Given the description of an element on the screen output the (x, y) to click on. 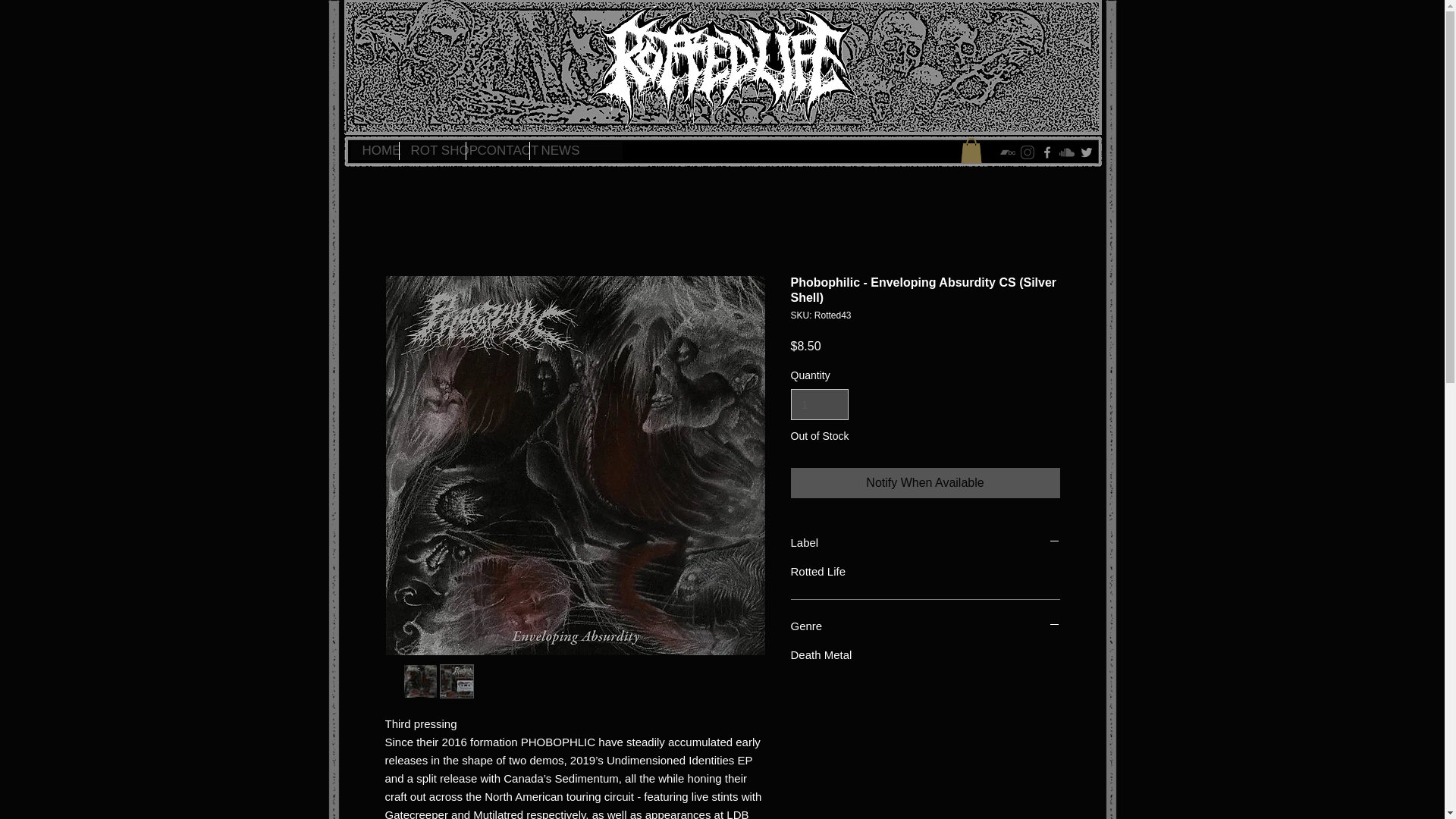
1 (818, 404)
HOME (373, 150)
NEWS (552, 150)
Label (924, 542)
ROT SHOP (431, 150)
CONTACT (497, 150)
Genre (924, 625)
Notify When Available (924, 482)
